Given the description of an element on the screen output the (x, y) to click on. 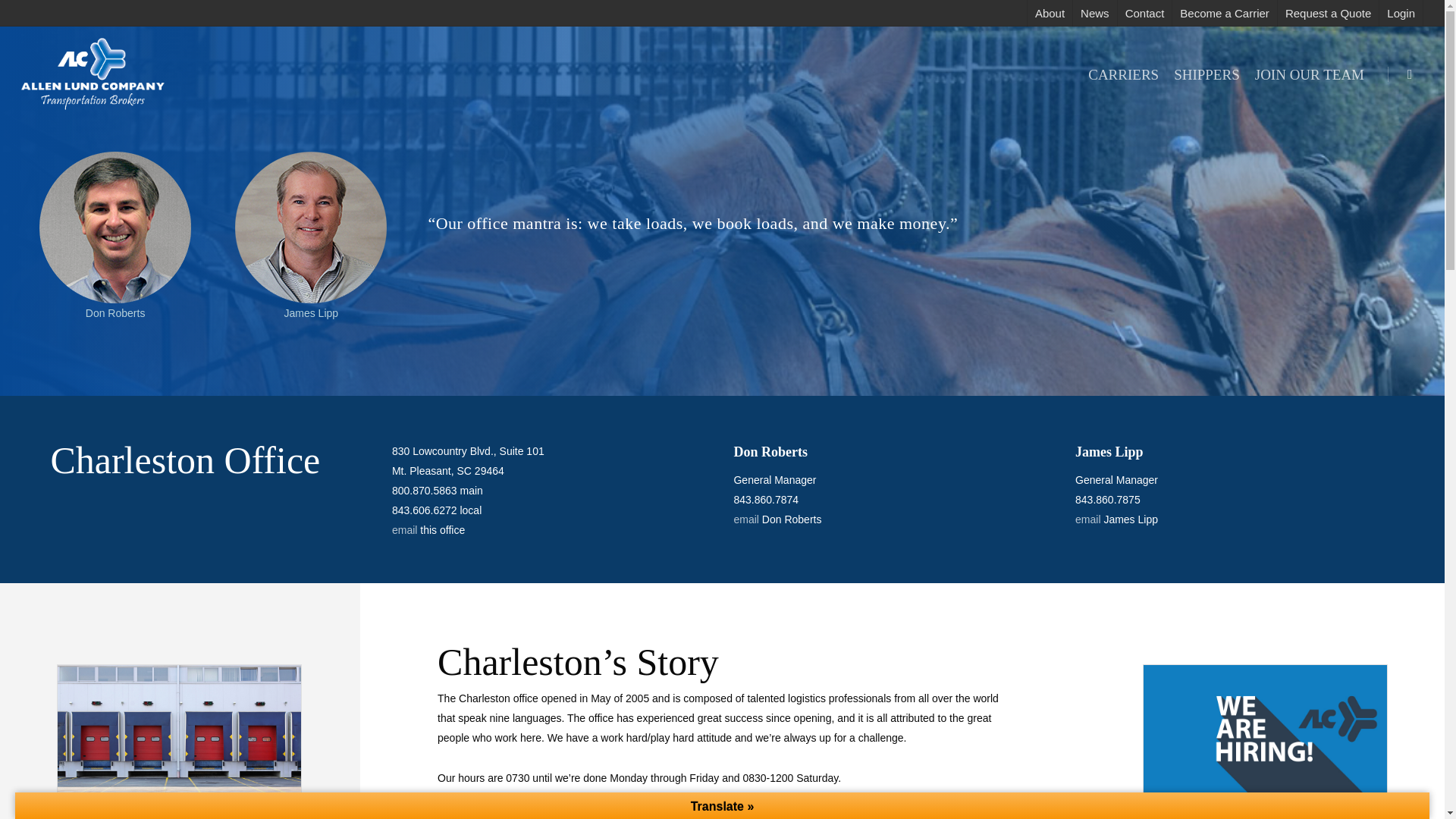
SHIPPERS (1206, 73)
Contact (1144, 13)
Login (1400, 13)
JOIN OUR TEAM (1309, 73)
email (1087, 519)
Request a Quote (1327, 13)
email (745, 519)
About (1048, 13)
News (1093, 13)
email (403, 530)
CARRIERS (1123, 73)
Become a Carrier (1224, 13)
